Given the description of an element on the screen output the (x, y) to click on. 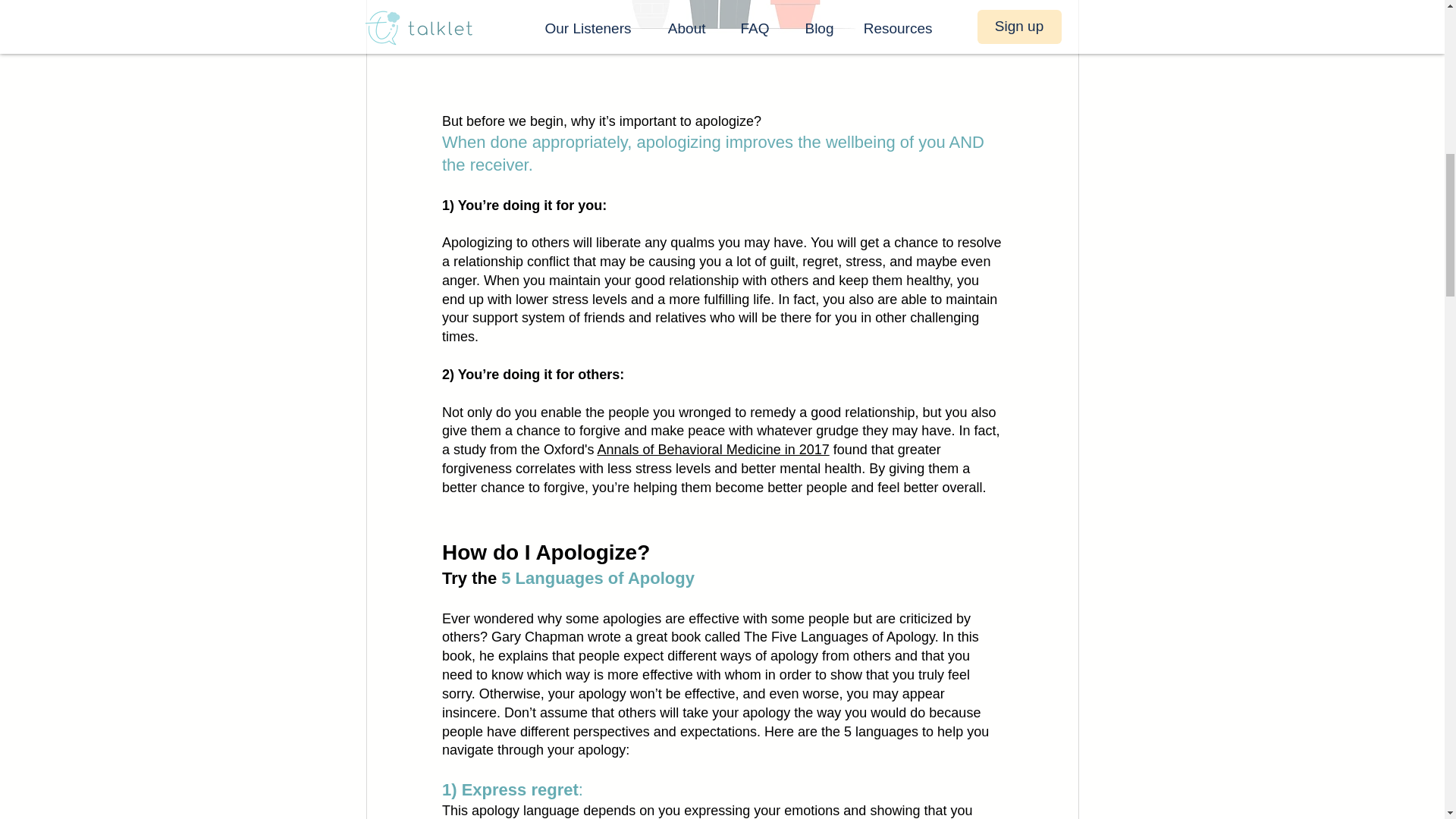
Annals of Behavioral Medicine in 2017 (712, 449)
